Given the description of an element on the screen output the (x, y) to click on. 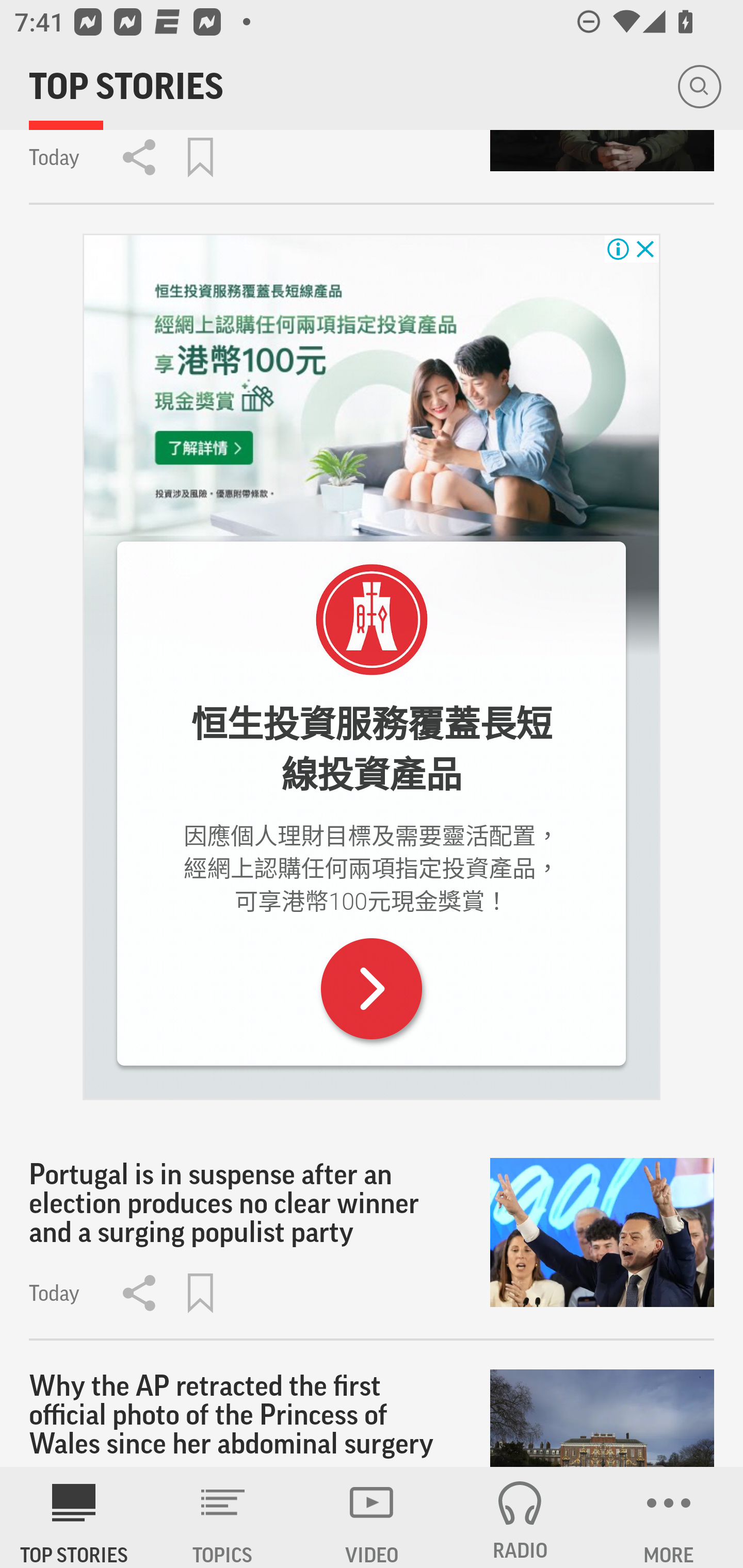
B31268930 (371, 387)
B31268930 (371, 620)
恒生投資服務覆蓋長短 線投資產品 恒生投資服務覆蓋長短 線投資產品 (371, 749)
B31268930 (371, 988)
AP News TOP STORIES (74, 1517)
TOPICS (222, 1517)
VIDEO (371, 1517)
RADIO (519, 1517)
MORE (668, 1517)
